Given the description of an element on the screen output the (x, y) to click on. 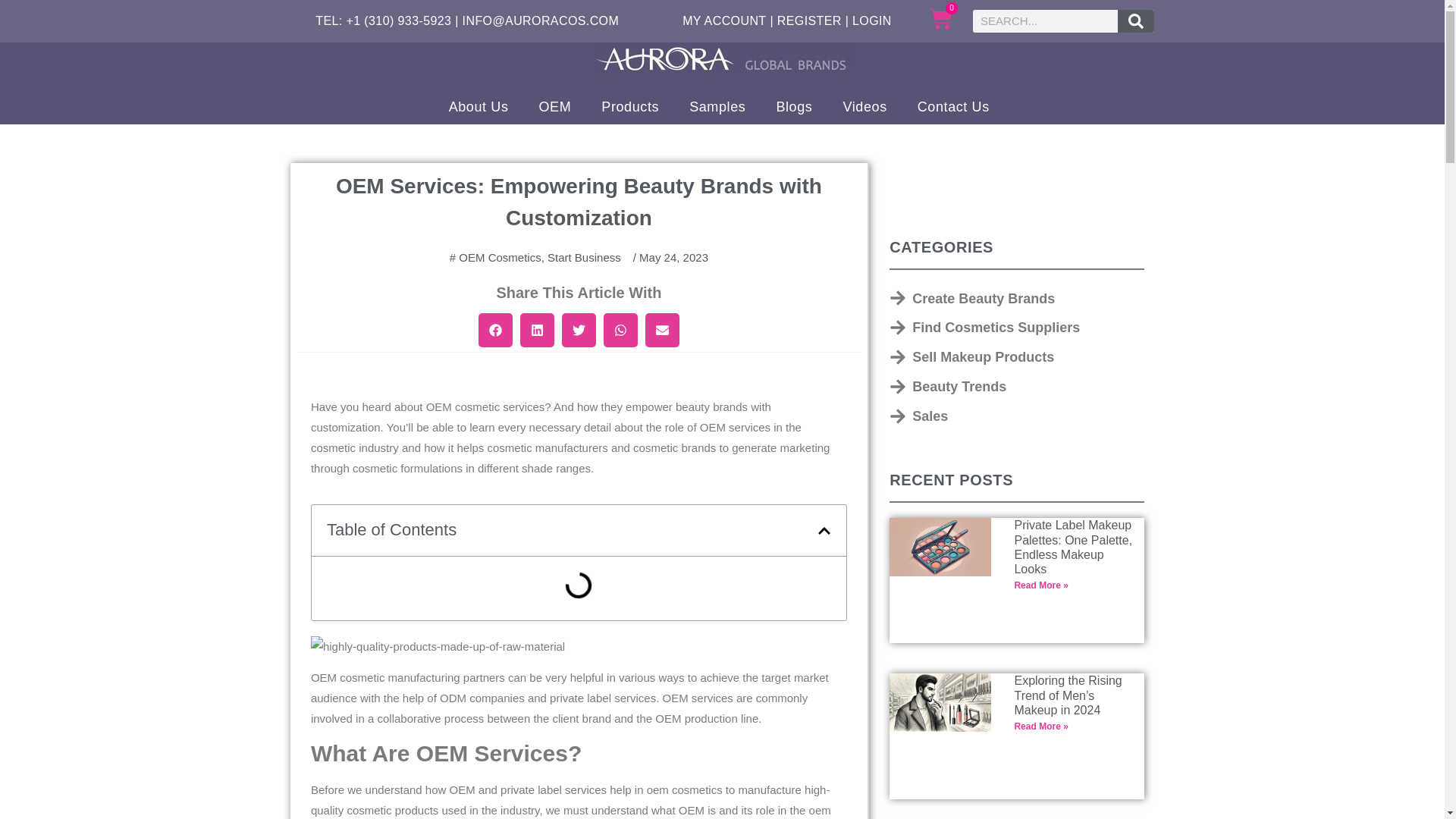
LOGIN (871, 20)
Samples (717, 106)
REGISTER (809, 20)
OEM (554, 106)
About Us (478, 106)
MY ACCOUNT (723, 20)
Products (630, 106)
